Given the description of an element on the screen output the (x, y) to click on. 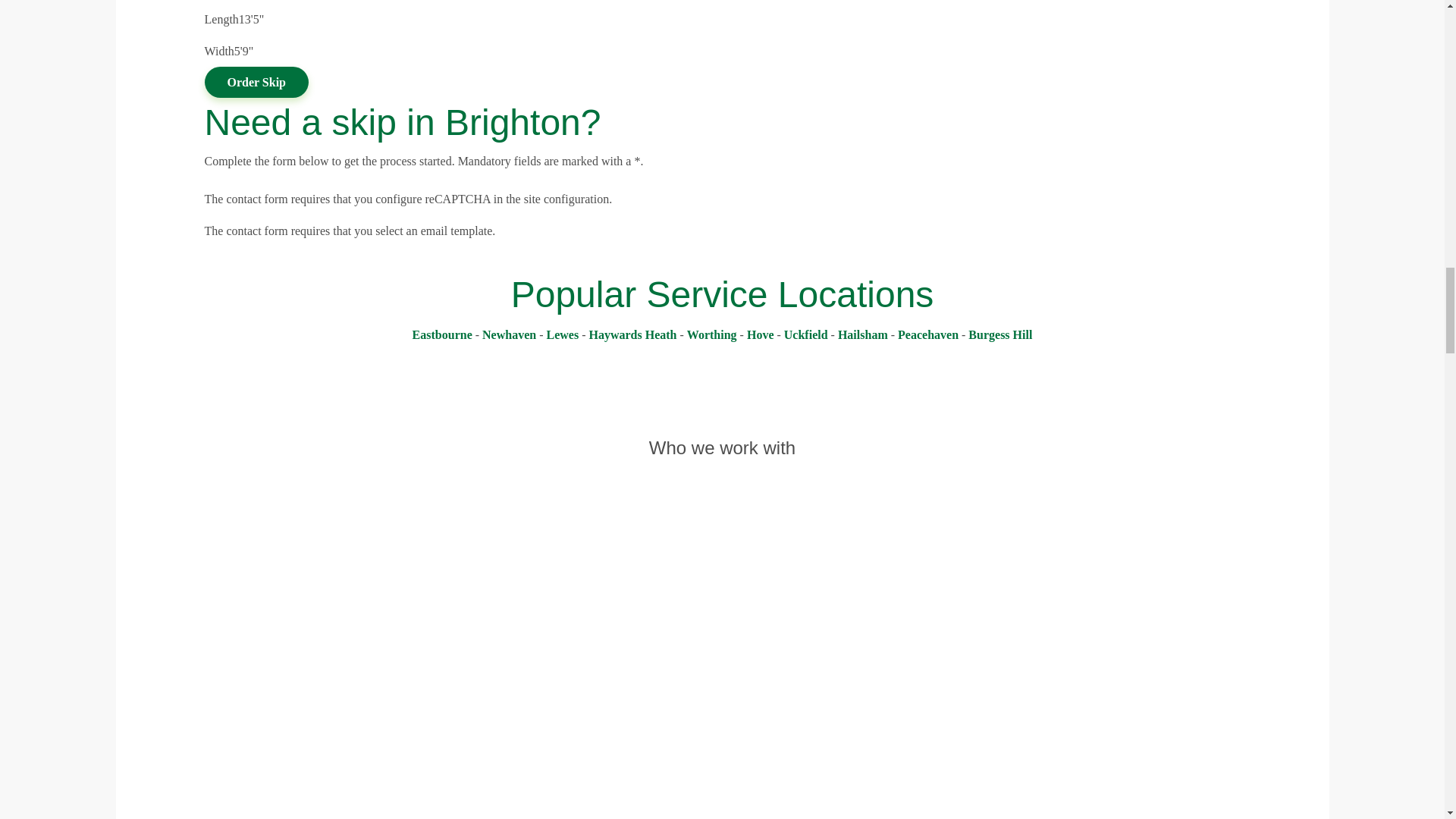
Hove (760, 334)
Order Skip (256, 81)
Uckfield (806, 334)
Hailsham (863, 334)
Haywards Heath (632, 334)
Newhaven (508, 334)
Eastbourne (441, 334)
Worthing (711, 334)
Burgess Hill (1000, 334)
Lewes (562, 334)
Peacehaven (928, 334)
